Given the description of an element on the screen output the (x, y) to click on. 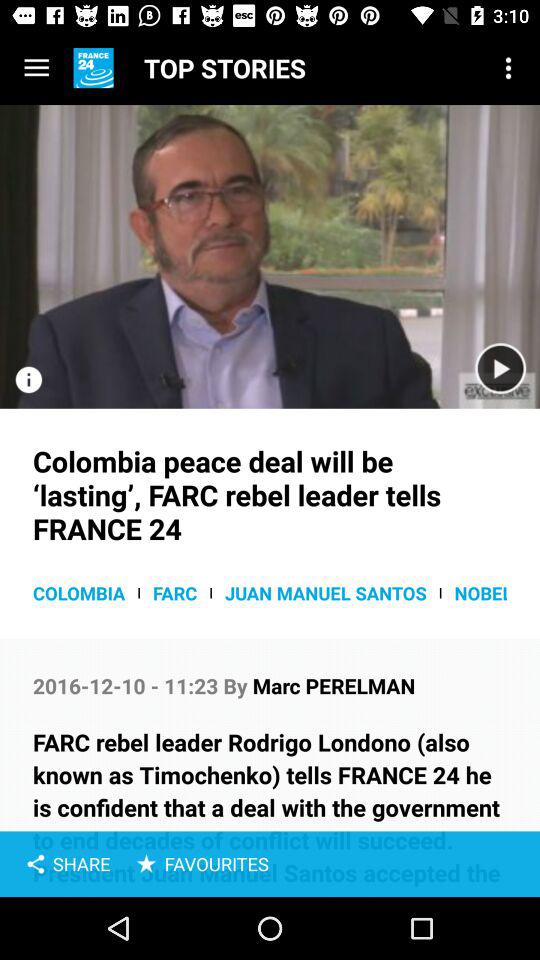
turn on the item next to top stories icon (508, 67)
